Given the description of an element on the screen output the (x, y) to click on. 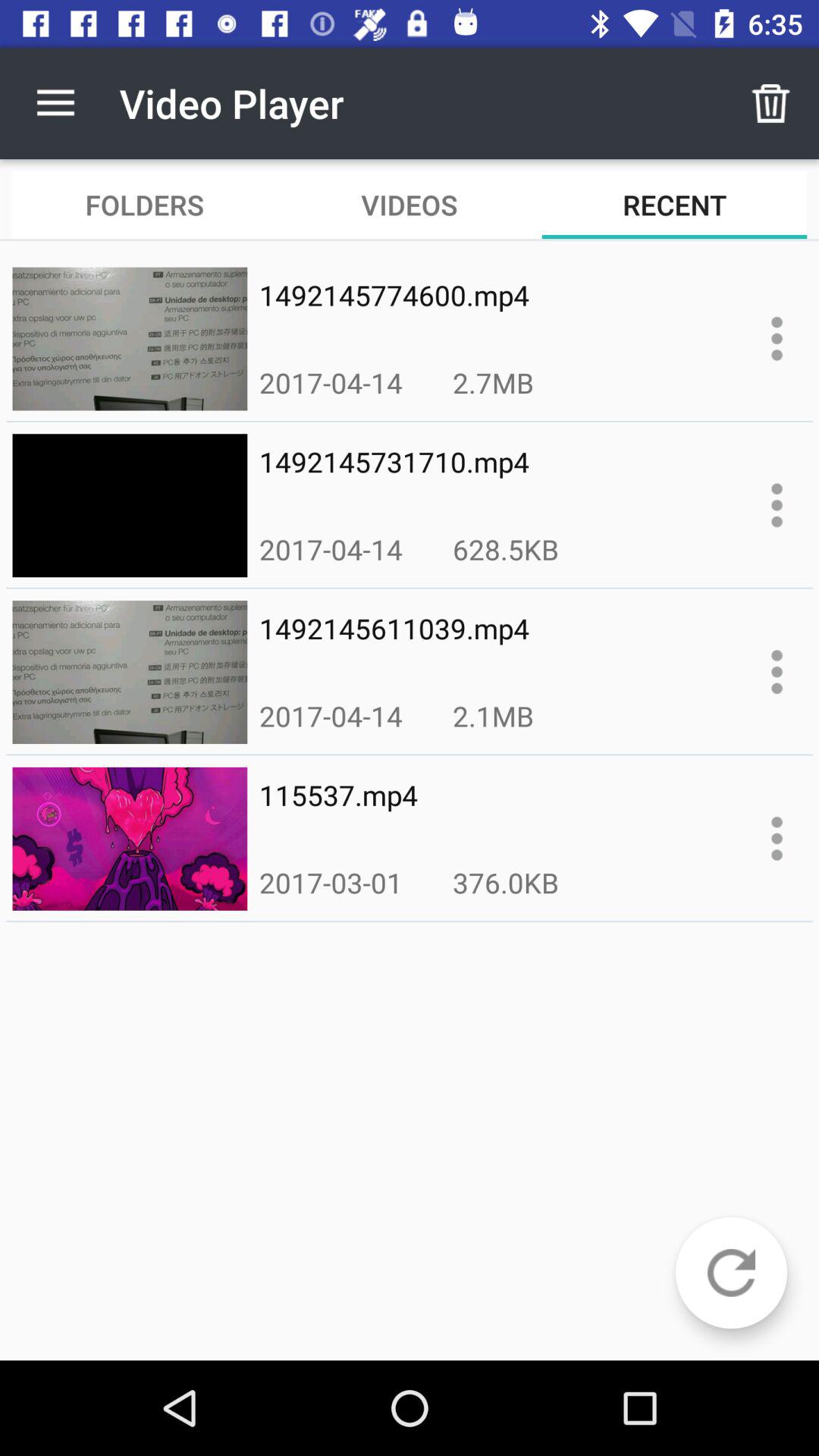
more options (776, 838)
